Given the description of an element on the screen output the (x, y) to click on. 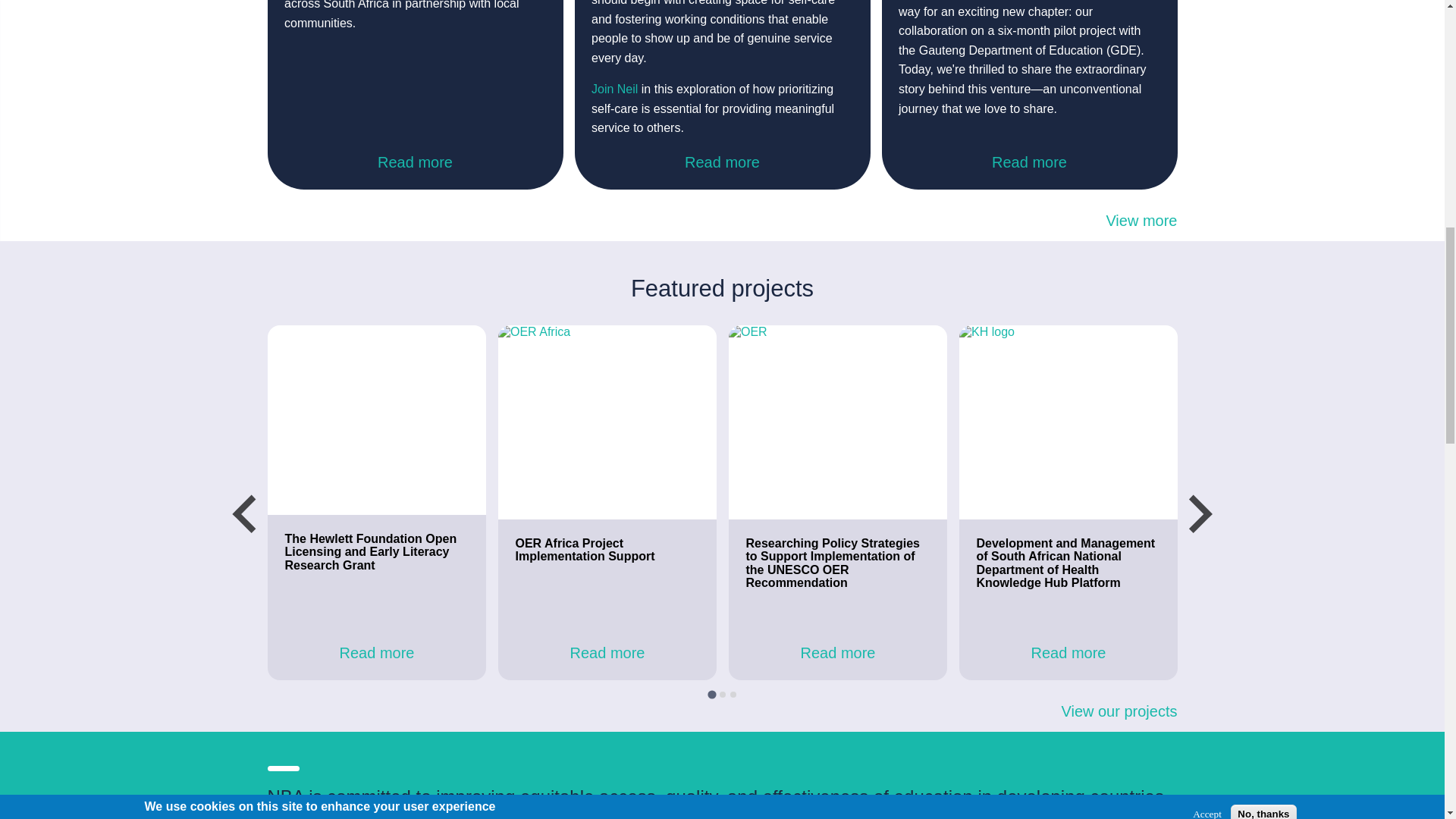
Read more (414, 162)
Read more (606, 653)
Join Neil (614, 88)
Read more (722, 162)
View more (721, 221)
Read more (375, 653)
OER Africa Project Implementation Support (584, 550)
Read more (1029, 162)
